Given the description of an element on the screen output the (x, y) to click on. 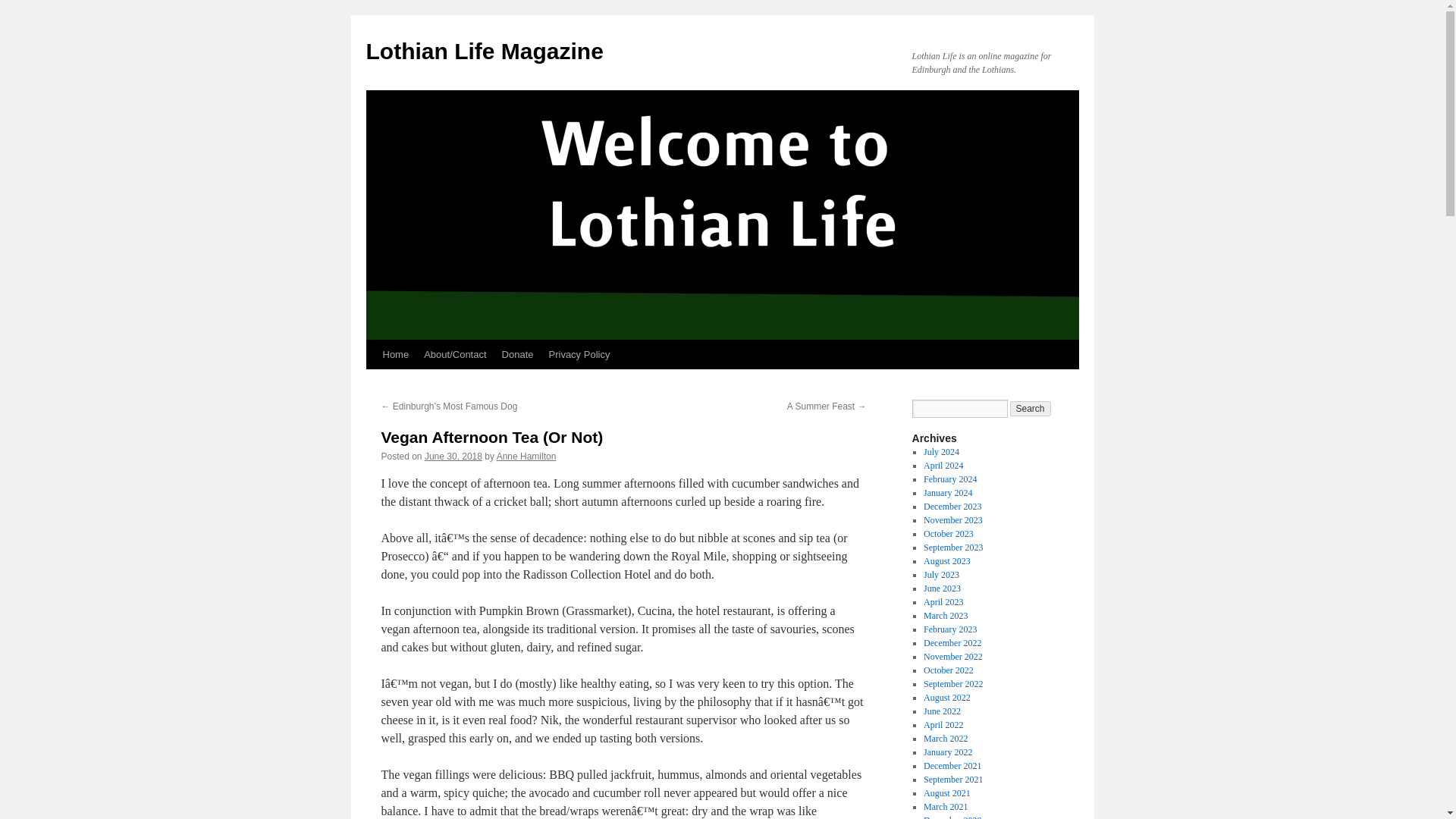
June 2023 (941, 588)
April 2022 (942, 724)
July 2024 (941, 451)
February 2023 (949, 629)
March 2022 (945, 738)
August 2022 (947, 697)
July 2023 (941, 574)
Search (1030, 408)
Donate (518, 354)
Anne Hamilton (526, 456)
November 2023 (952, 520)
Privacy Policy (579, 354)
Search (1030, 408)
December 2022 (952, 643)
November 2022 (952, 656)
